Given the description of an element on the screen output the (x, y) to click on. 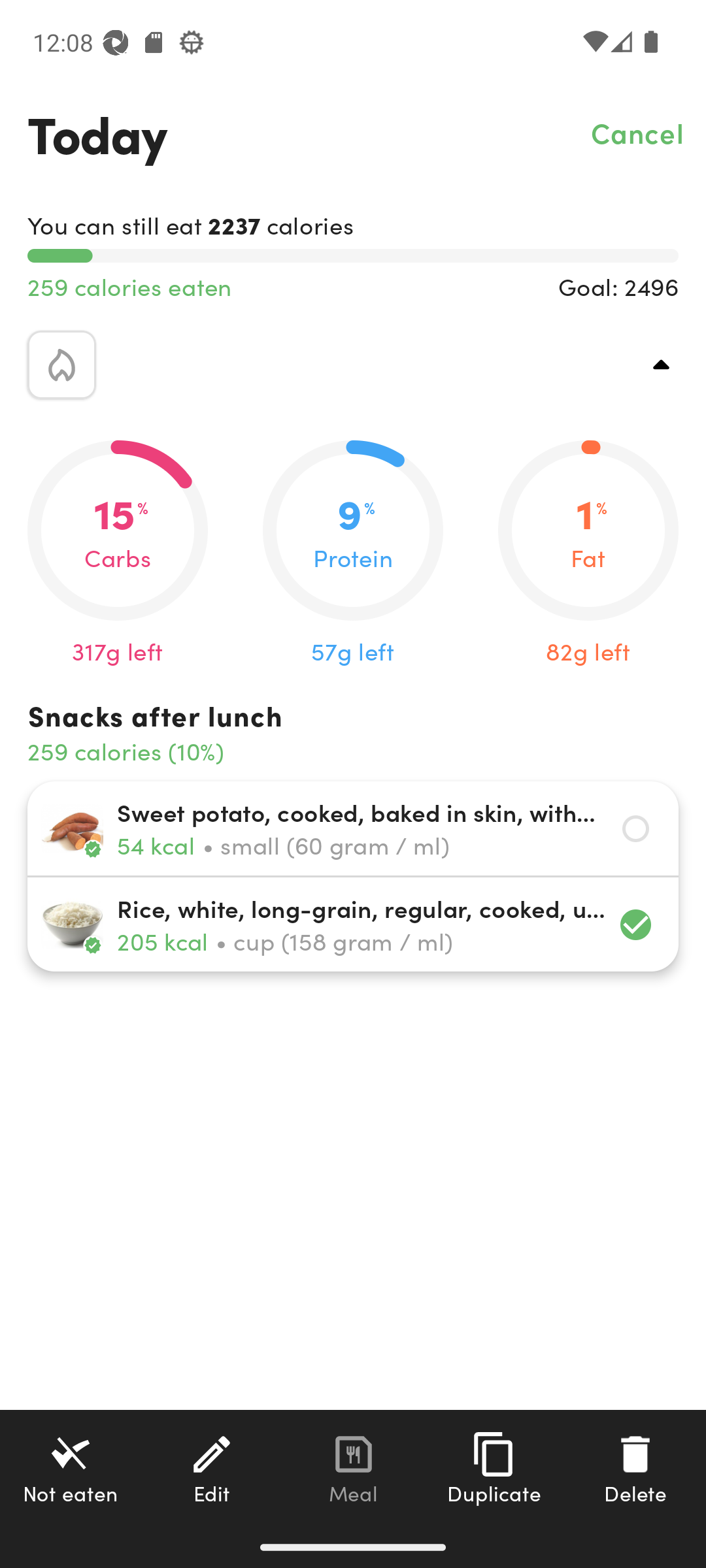
Cancel (637, 132)
calorie_icon (62, 365)
top_right_action (661, 365)
0.15 15 % Carbs 317g left (117, 553)
0.09 9 % Protein 57g left (352, 553)
0.01 1 % Fat 82g left (588, 553)
Not eaten (70, 1468)
Edit (211, 1468)
Meal (352, 1468)
Duplicate (493, 1468)
Delete (635, 1468)
